Given the description of an element on the screen output the (x, y) to click on. 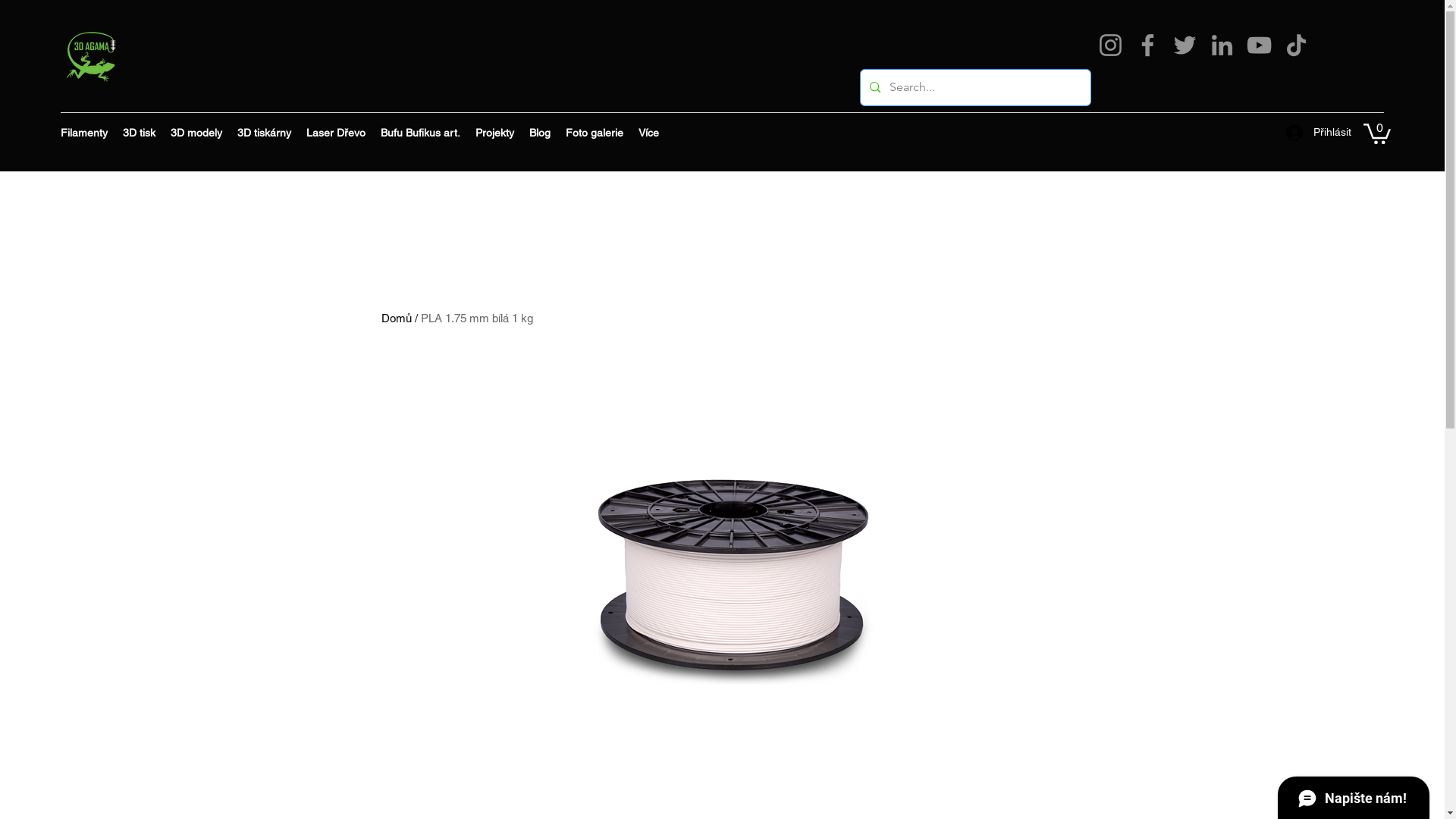
Blog Element type: text (539, 132)
Filamenty Element type: text (84, 132)
0 Element type: text (1376, 132)
Projekty Element type: text (494, 132)
Foto galerie Element type: text (594, 132)
Bufu Bufikus art. Element type: text (420, 132)
3D modely Element type: text (196, 132)
3D tisk Element type: text (139, 132)
